Given the description of an element on the screen output the (x, y) to click on. 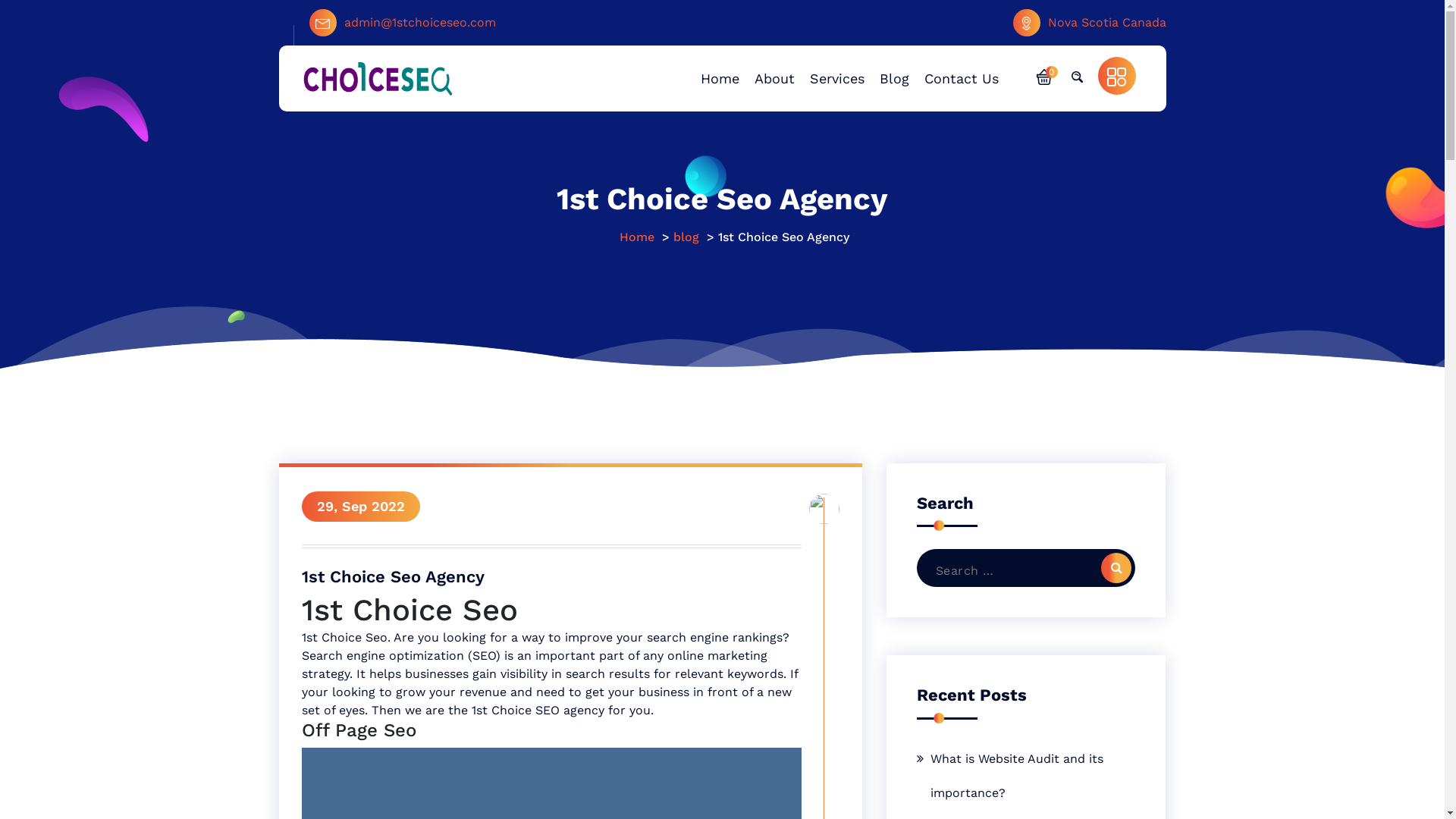
Contact Us Element type: text (960, 78)
Nova Scotia Canada Element type: text (1089, 22)
What is Website Audit and its importance? Element type: text (1025, 775)
admin@1stchoiceseo.com Element type: text (402, 22)
About Element type: text (773, 78)
0 Element type: text (1043, 75)
Search Element type: text (1116, 567)
Blog Element type: text (894, 78)
Home Element type: text (636, 236)
Home Element type: text (719, 78)
Services Element type: text (836, 78)
blog Element type: text (686, 236)
